Given the description of an element on the screen output the (x, y) to click on. 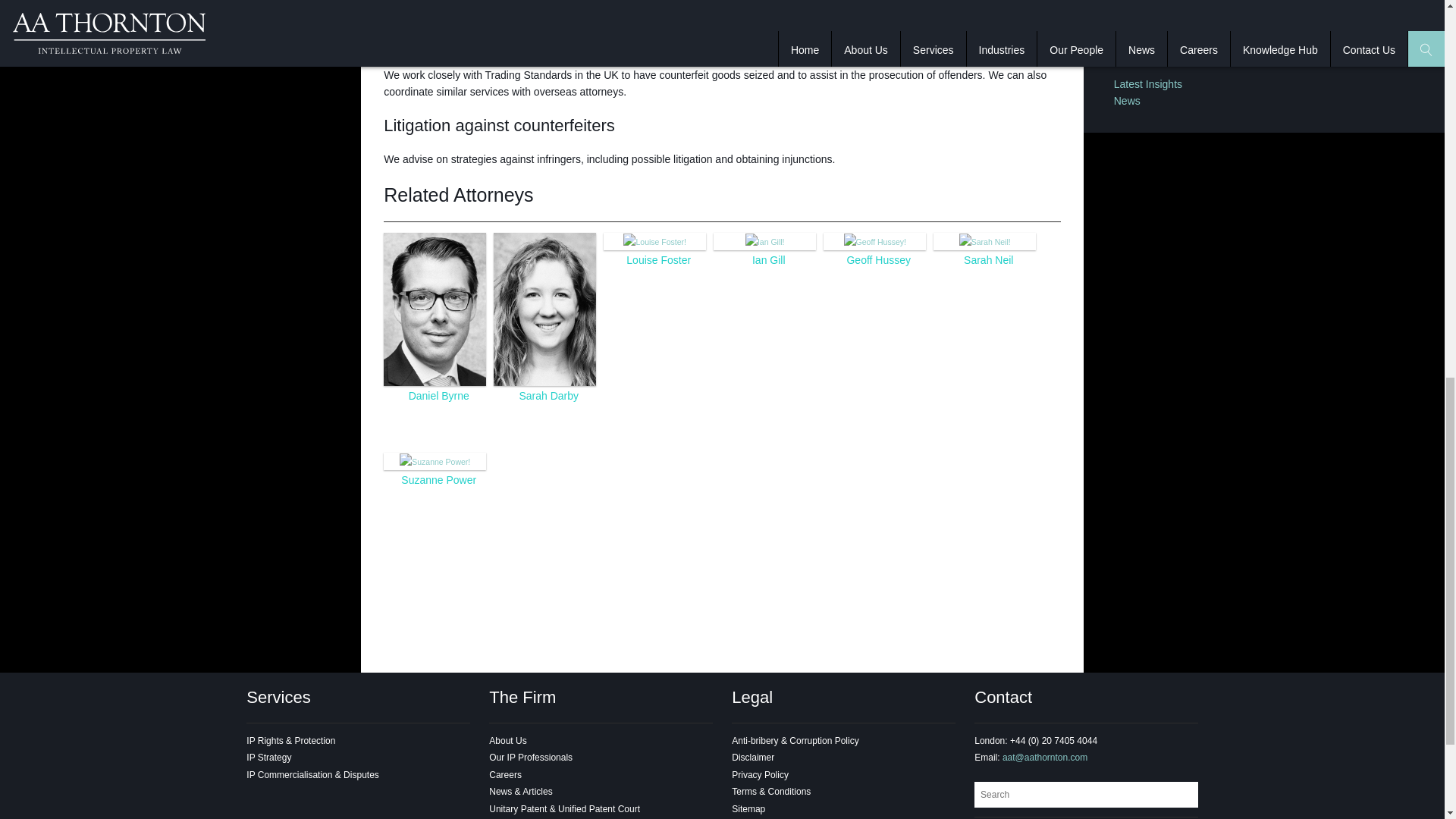
Attorney: Sarah Neil (988, 259)
Attorney: Geoff Hussey (878, 259)
Attorney: Suzanne Power (434, 461)
Attorney: Daniel Byrne (435, 307)
Attorney: Suzanne Power (438, 480)
Attorney: Ian Gill (764, 240)
Attorney: Geoff Hussey (874, 240)
Attorney: Louise Foster (654, 240)
Attorney: Sarah Neil (984, 240)
Attorney: Louise Foster (658, 259)
